Given the description of an element on the screen output the (x, y) to click on. 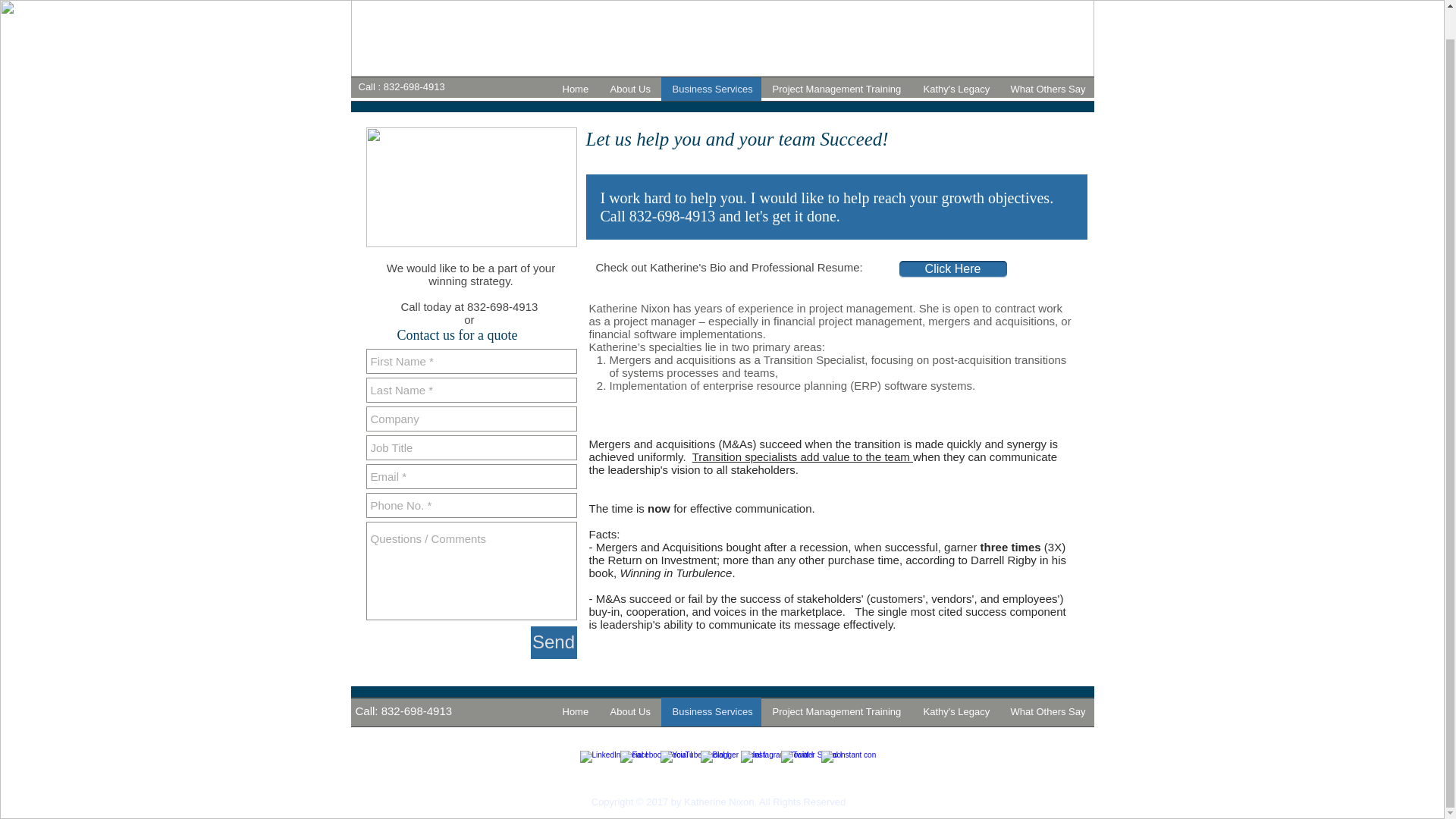
Send (553, 642)
Project Management Training (836, 88)
About Us (629, 711)
Project Management Training (836, 711)
Kathy's Legacy (954, 88)
Business Services (711, 711)
Business Services (711, 88)
What Others Say (1046, 88)
Click Here (953, 269)
Home (574, 711)
Home (574, 88)
Kathy's Legacy (954, 711)
About Us (629, 88)
What Others Say (1046, 711)
